Given the description of an element on the screen output the (x, y) to click on. 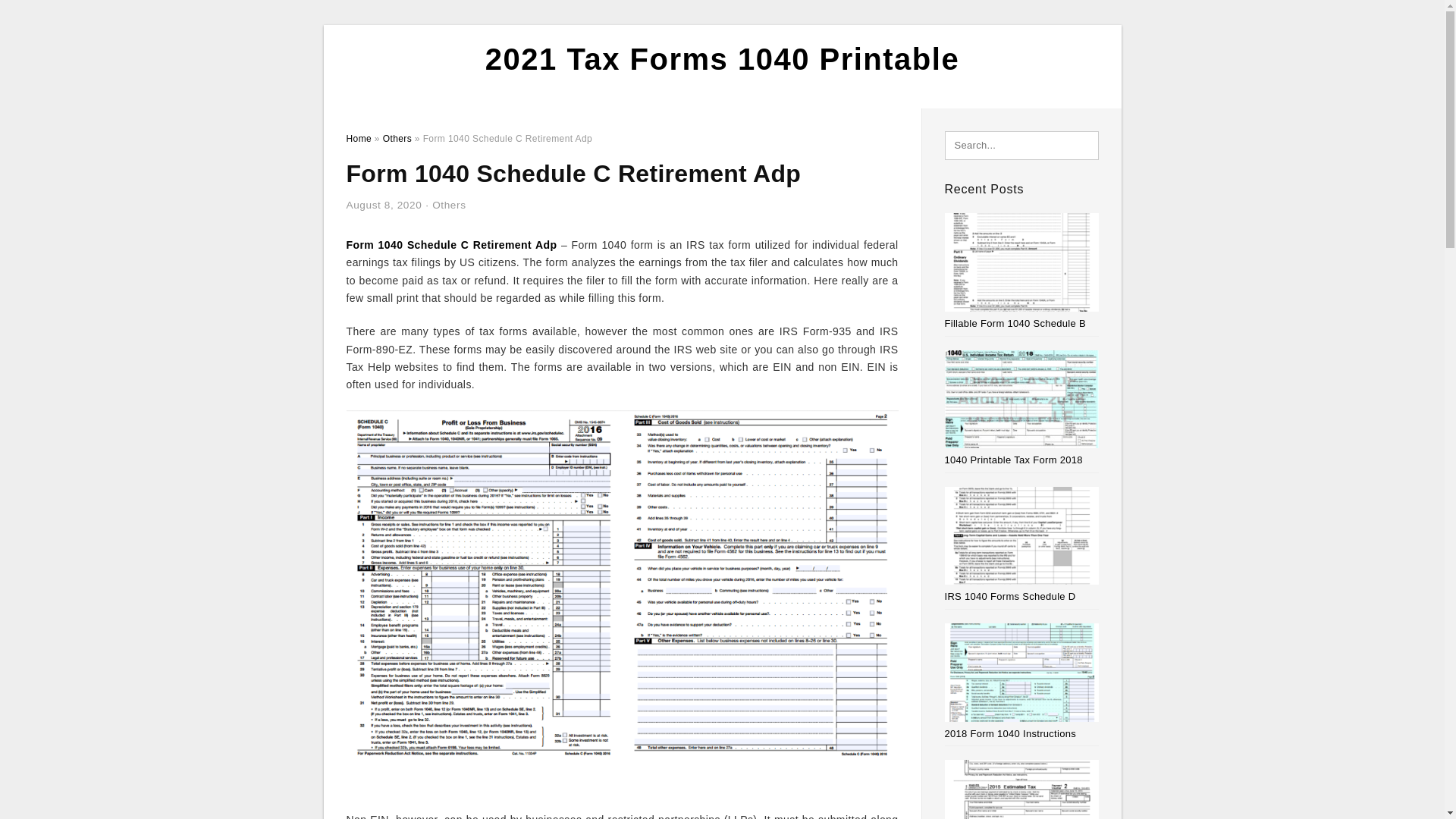
Search for: (1021, 145)
Others (448, 204)
Others (397, 138)
Fillable Form 1040 Schedule B (1015, 323)
1040 Printable Tax Form 2018 (1013, 460)
2018 Form 1040 Instructions Schedule 2 (1010, 733)
Search (43, 15)
IRS 1040 Forms Schedule D (1009, 595)
Home (358, 138)
2018 Form 1040 Instructions (1010, 733)
2021 Tax Forms 1040 Printable (721, 59)
IRS 1040 Forms Schedule D (1009, 595)
1040 Printable Tax Form 2018 (1013, 460)
